Given the description of an element on the screen output the (x, y) to click on. 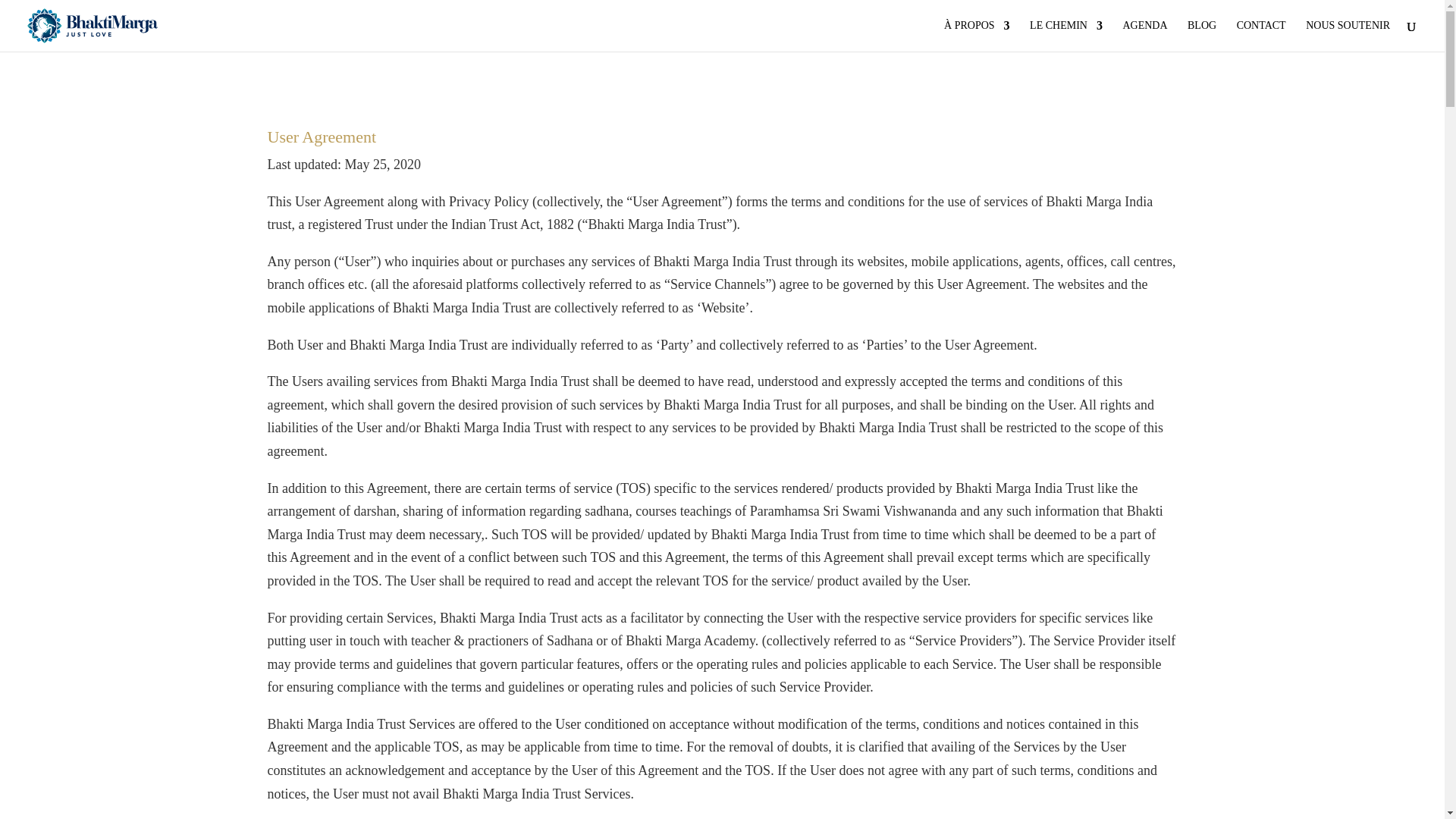
LE CHEMIN (1065, 35)
BLOG (1201, 35)
NOUS SOUTENIR (1348, 35)
AGENDA (1144, 35)
CONTACT (1260, 35)
